Given the description of an element on the screen output the (x, y) to click on. 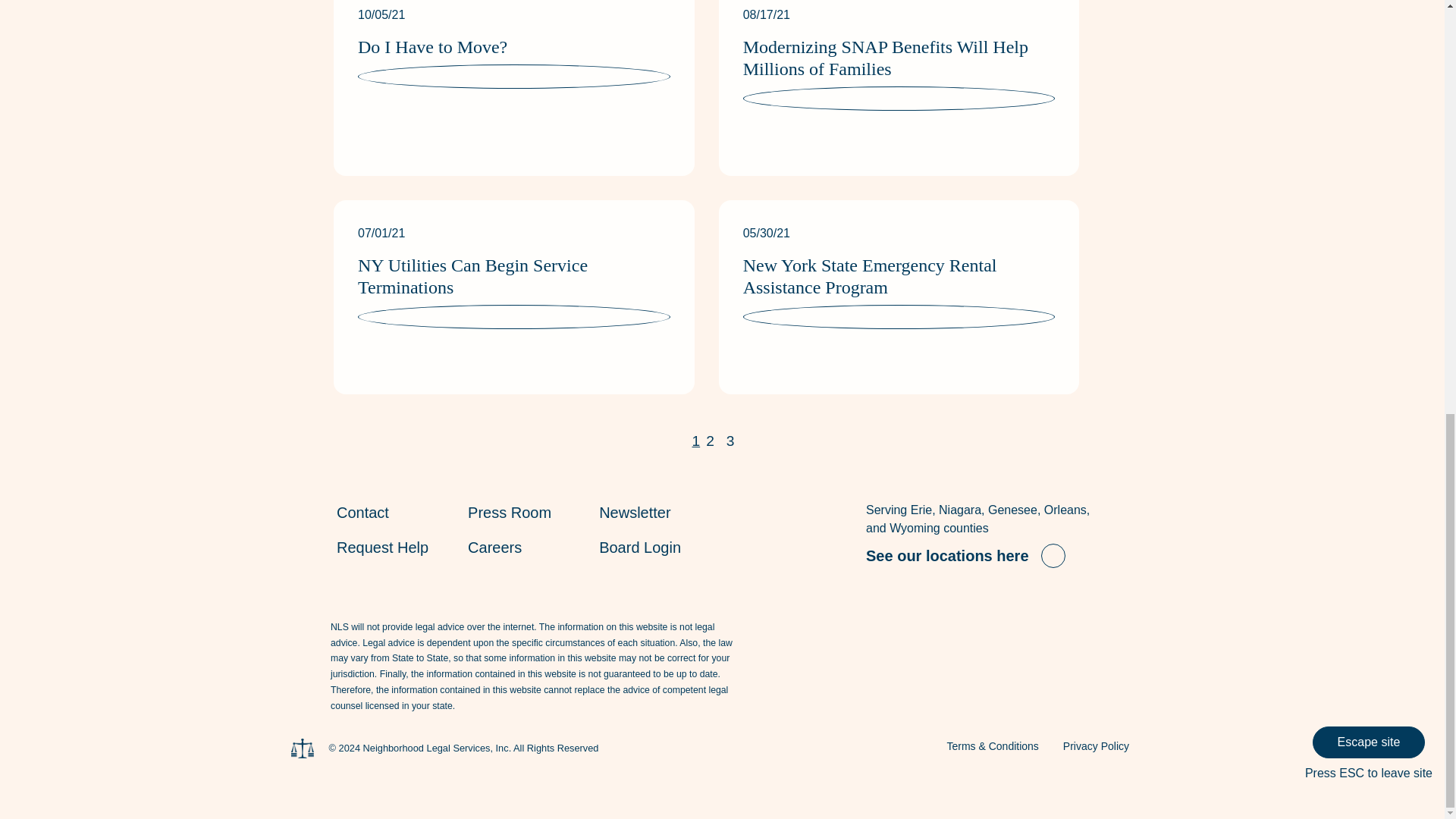
2 (710, 441)
3 (730, 441)
